Given the description of an element on the screen output the (x, y) to click on. 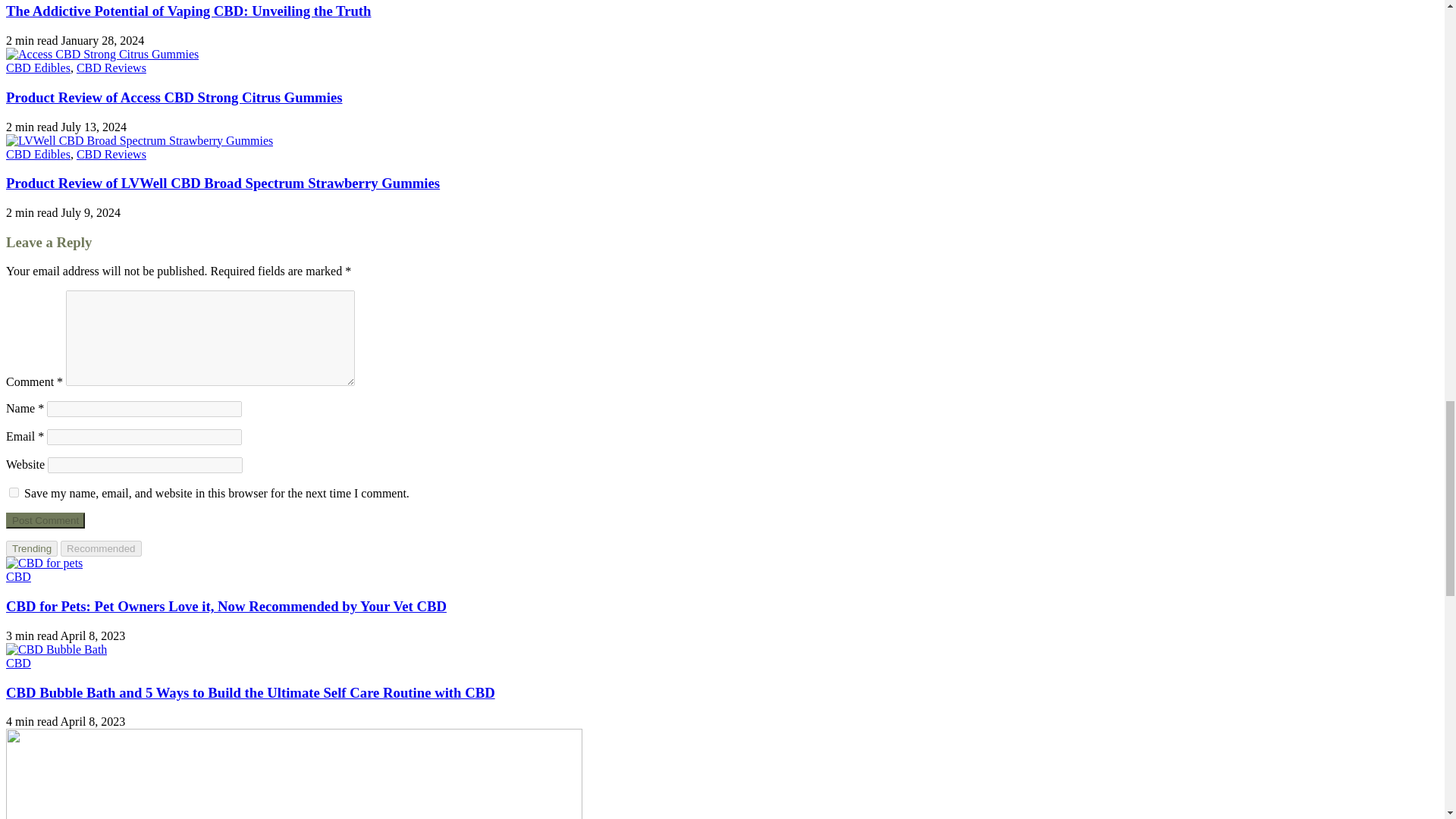
Post Comment (44, 520)
yes (13, 492)
